Given the description of an element on the screen output the (x, y) to click on. 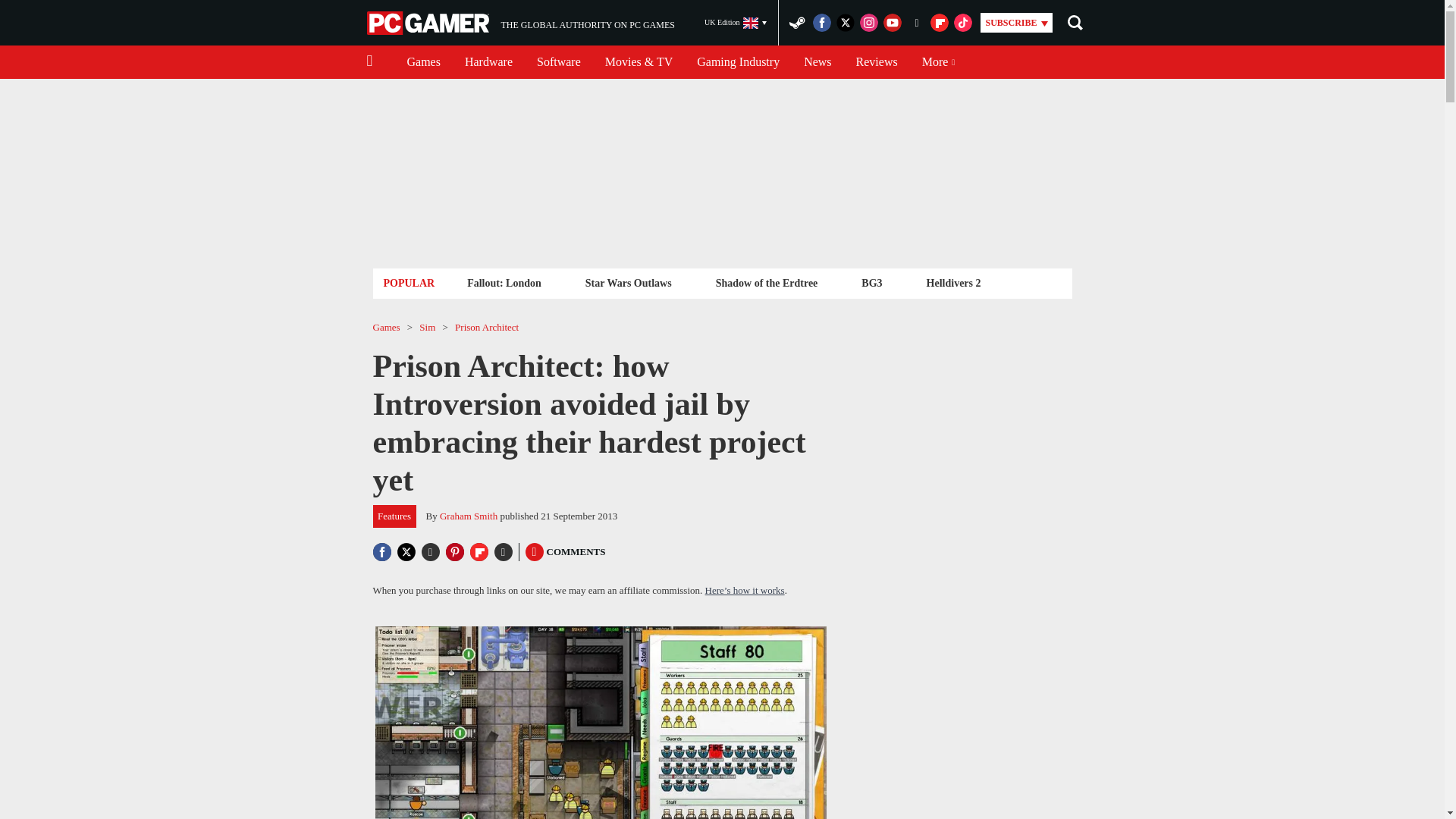
UK Edition (735, 22)
PC Gamer (429, 22)
Fallout: London (504, 282)
Software (558, 61)
Games (422, 61)
Reviews (877, 61)
Star Wars Outlaws (628, 282)
News (520, 22)
Hardware (817, 61)
Gaming Industry (488, 61)
